Given the description of an element on the screen output the (x, y) to click on. 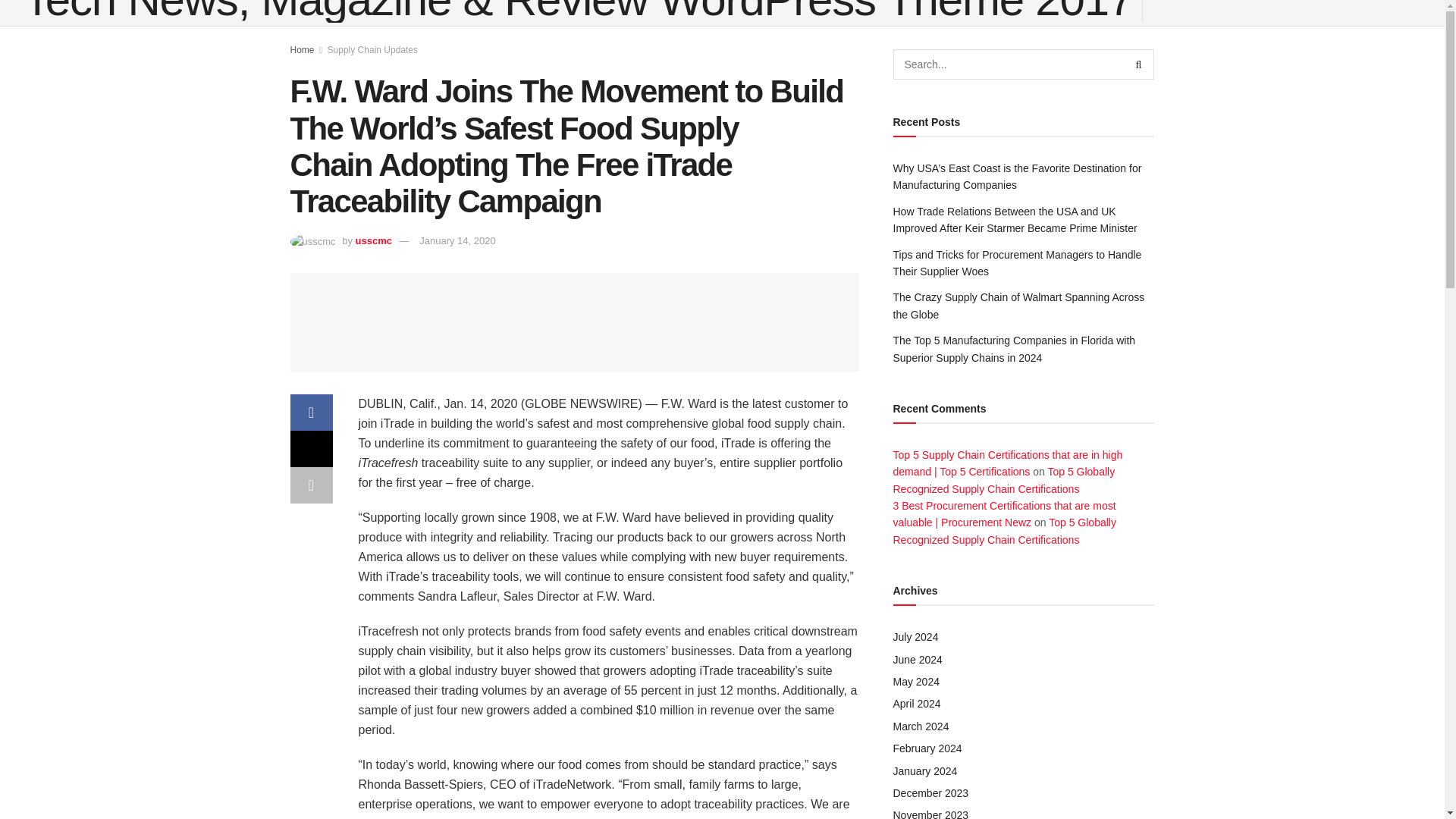
Supply Chain Updates (372, 50)
SUPPLY CHAIN UPDATES (139, 35)
CONTACT US (342, 35)
Top 5 Globally Recognized Supply Chain Certifications (1004, 530)
HOME (45, 35)
The Crazy Supply Chain of Walmart Spanning Across the Globe (1018, 305)
GLOBAL NEWS (254, 35)
usscmc (373, 240)
Top 5 Globally Recognized Supply Chain Certifications (1004, 480)
Home (301, 50)
January 14, 2020 (457, 240)
